Given the description of an element on the screen output the (x, y) to click on. 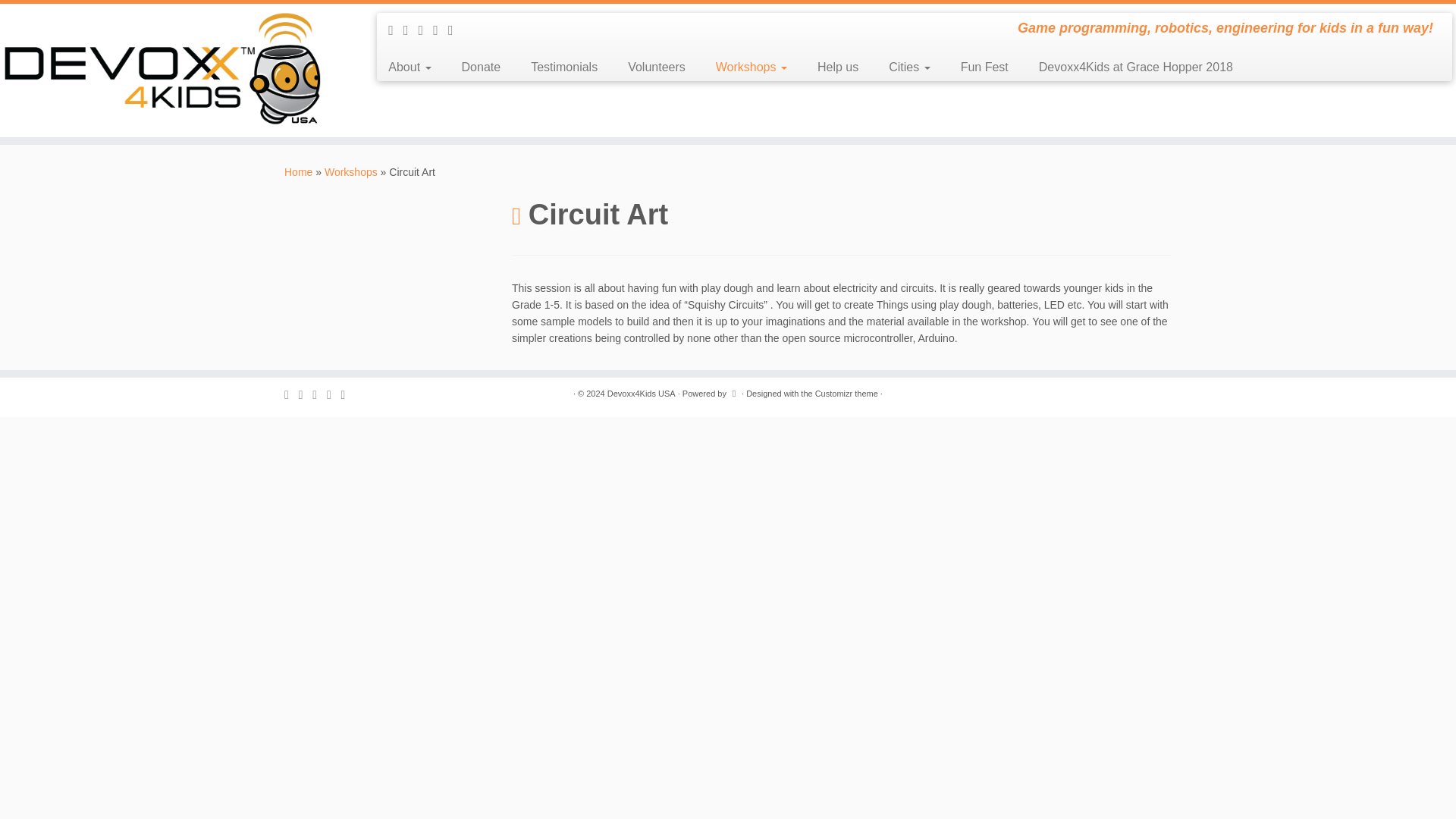
Follow me on Twitter (411, 29)
Subscribe to my rss feed (395, 29)
Volunteers (656, 67)
Testimonials (563, 67)
About (414, 67)
Cities (908, 67)
Workshops (350, 172)
Follow me on Facebook (426, 29)
Workshops (751, 67)
Devoxx4Kids USA (298, 172)
